Given the description of an element on the screen output the (x, y) to click on. 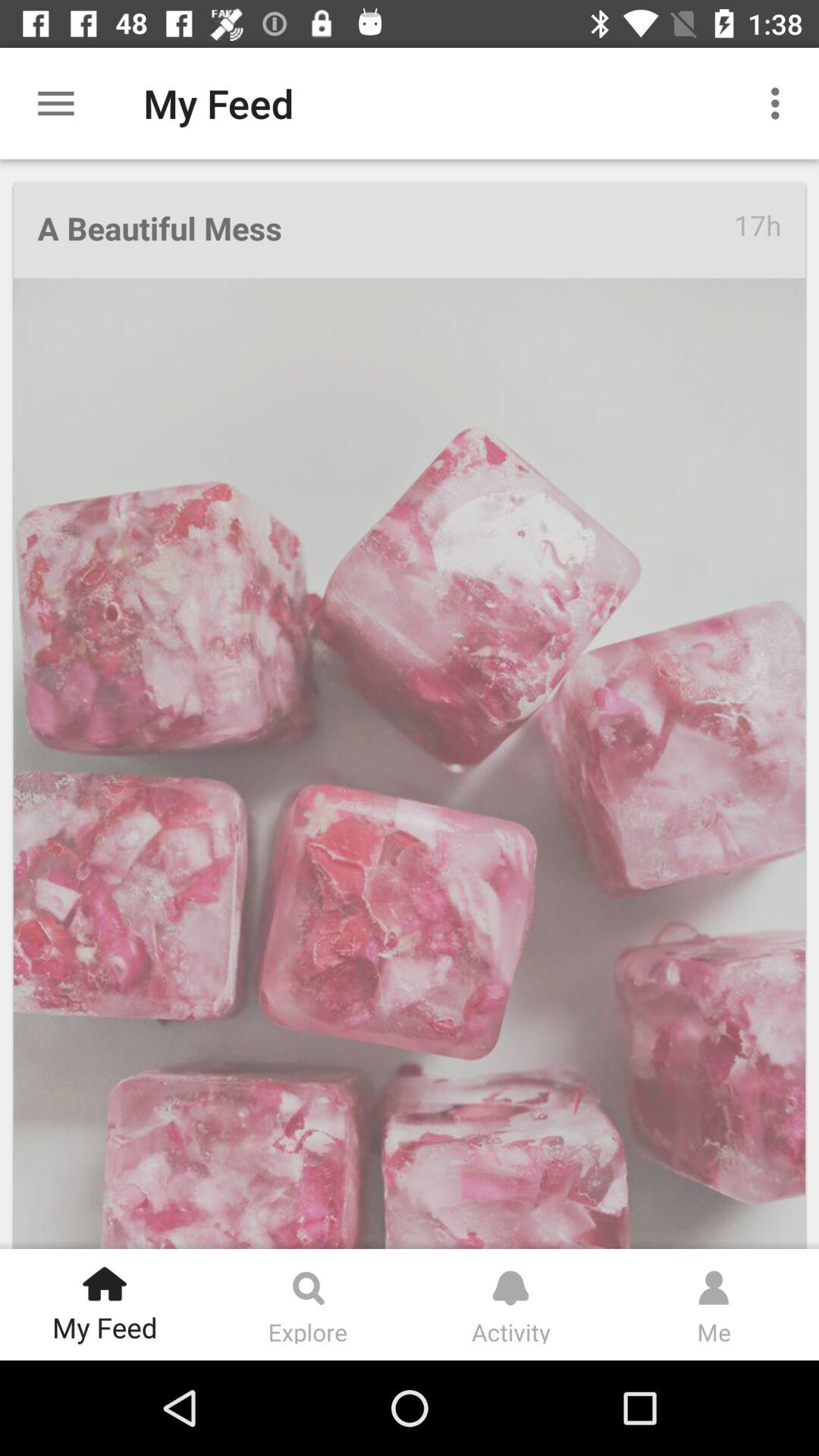
turn on the item next to the 17h (385, 230)
